Given the description of an element on the screen output the (x, y) to click on. 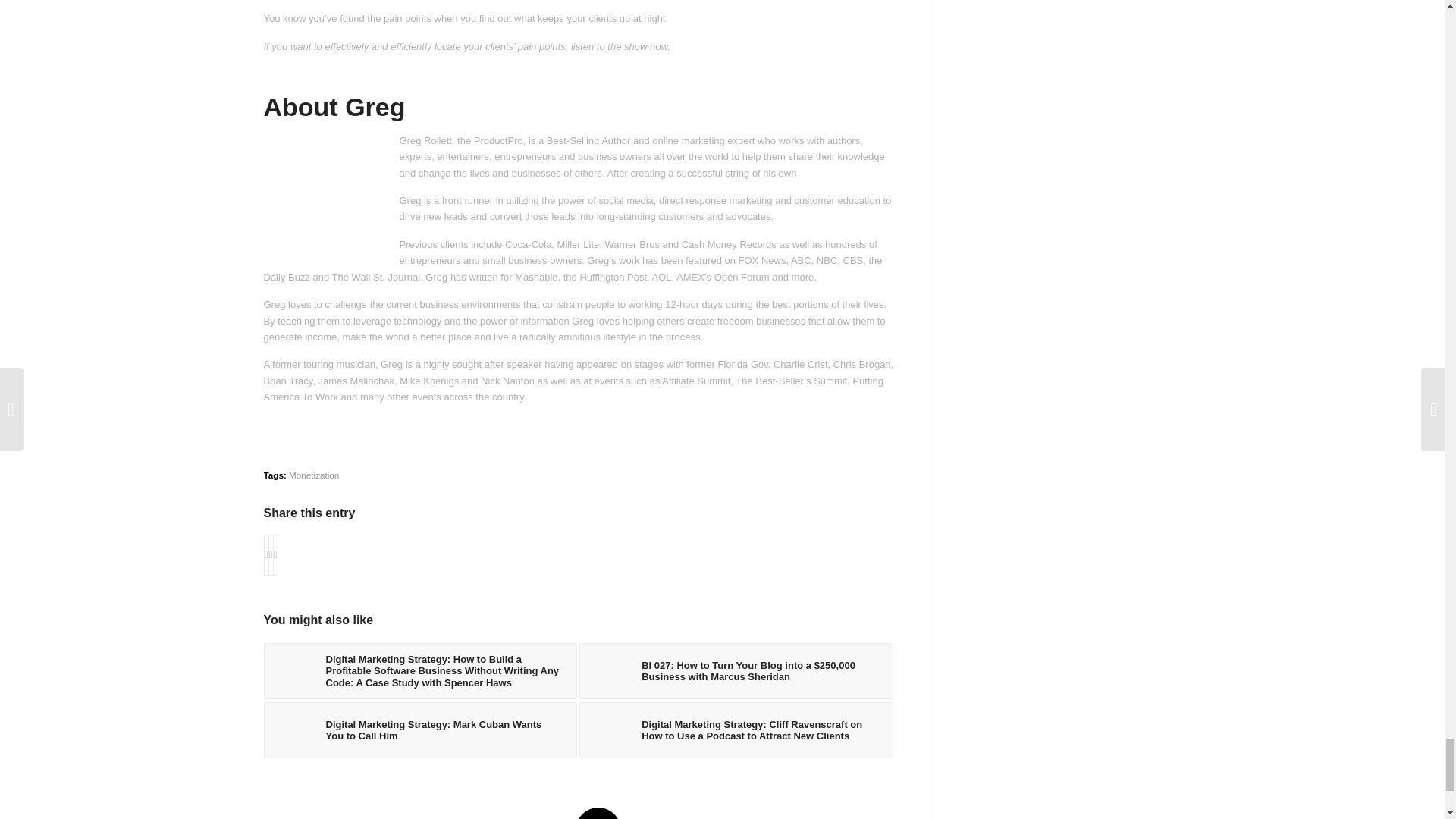
dan (290, 729)
GregRollettHS (327, 199)
Cliff (607, 729)
Digital Marketing Strategy: Mark Cuban Wants You to Call Him (420, 729)
Marcus Sheridan (607, 670)
Spencer (290, 670)
Monetization (313, 474)
Digital Marketing Strategy: Mark Cuban Wants You to Call Him (420, 729)
